Given the description of an element on the screen output the (x, y) to click on. 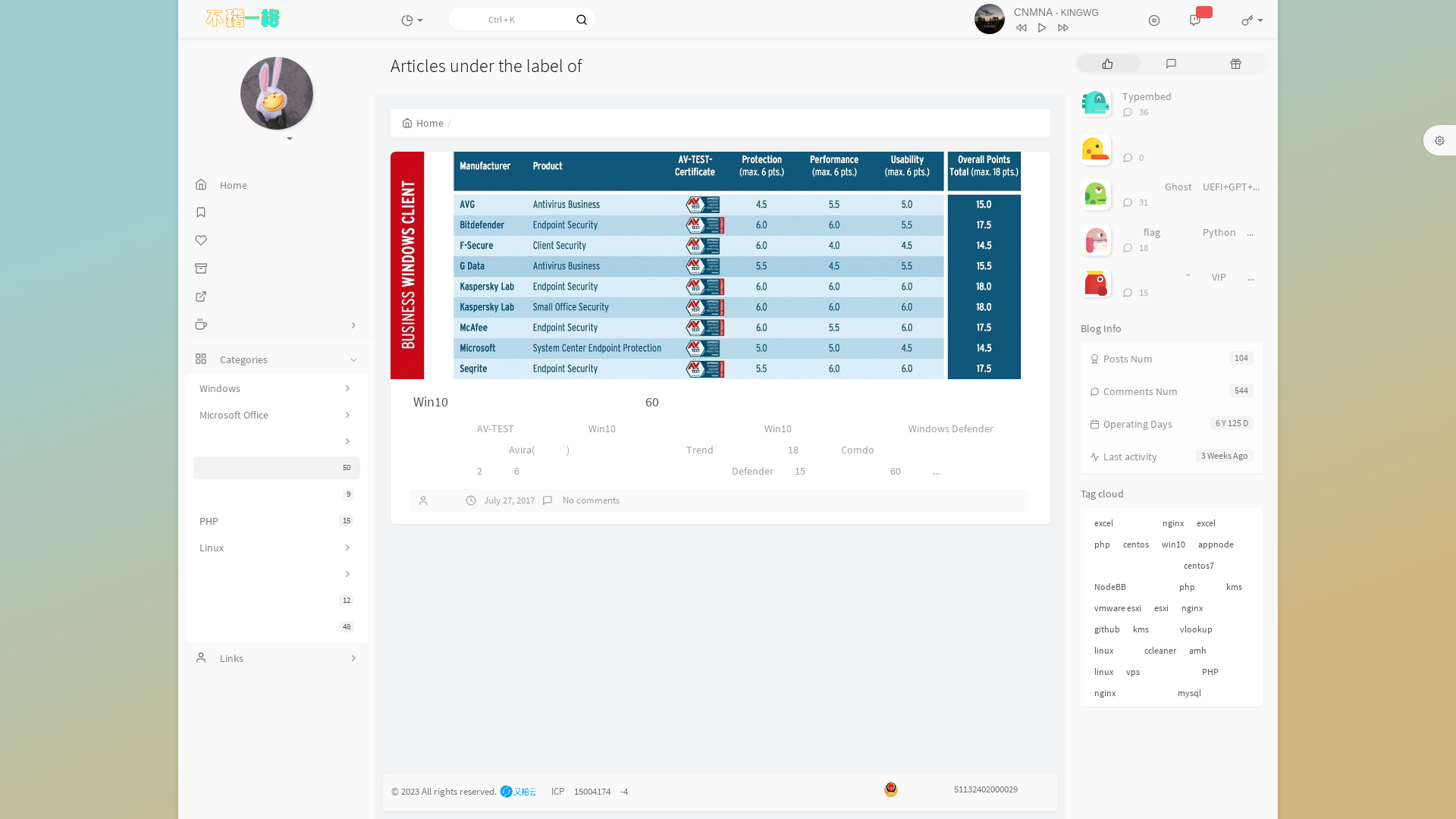
vmware esxi Element type: text (1117, 608)
win10 Element type: text (1173, 544)
Latest comments Element type: text (1171, 63)
php Element type: text (1101, 544)
appnode Element type: text (1215, 544)
centos7 Element type: text (1198, 565)
Windows Element type: text (276, 387)
centos Element type: text (1135, 544)
vlookup Element type: text (1195, 629)
Linux Element type: text (276, 547)
linux Element type: text (1103, 671)
mysql Element type: text (1189, 692)
Categories Element type: text (276, 359)
NodeBB Element type: text (1109, 586)
kms Element type: text (1233, 586)
Popular articles Element type: text (1107, 63)
15
PHP Element type: text (276, 520)
esxi Element type: text (1160, 608)
Microsoft Office Element type: text (276, 414)
Home Element type: text (422, 122)
Links Element type: text (276, 658)
vps Element type: text (1132, 671)
No comments Element type: text (589, 499)
nginx Element type: text (1173, 523)
github Element type: text (1106, 629)
ccleaner Element type: text (1160, 650)
Home Element type: text (276, 184)
Random articles Element type: text (1235, 63)
